Given the description of an element on the screen output the (x, y) to click on. 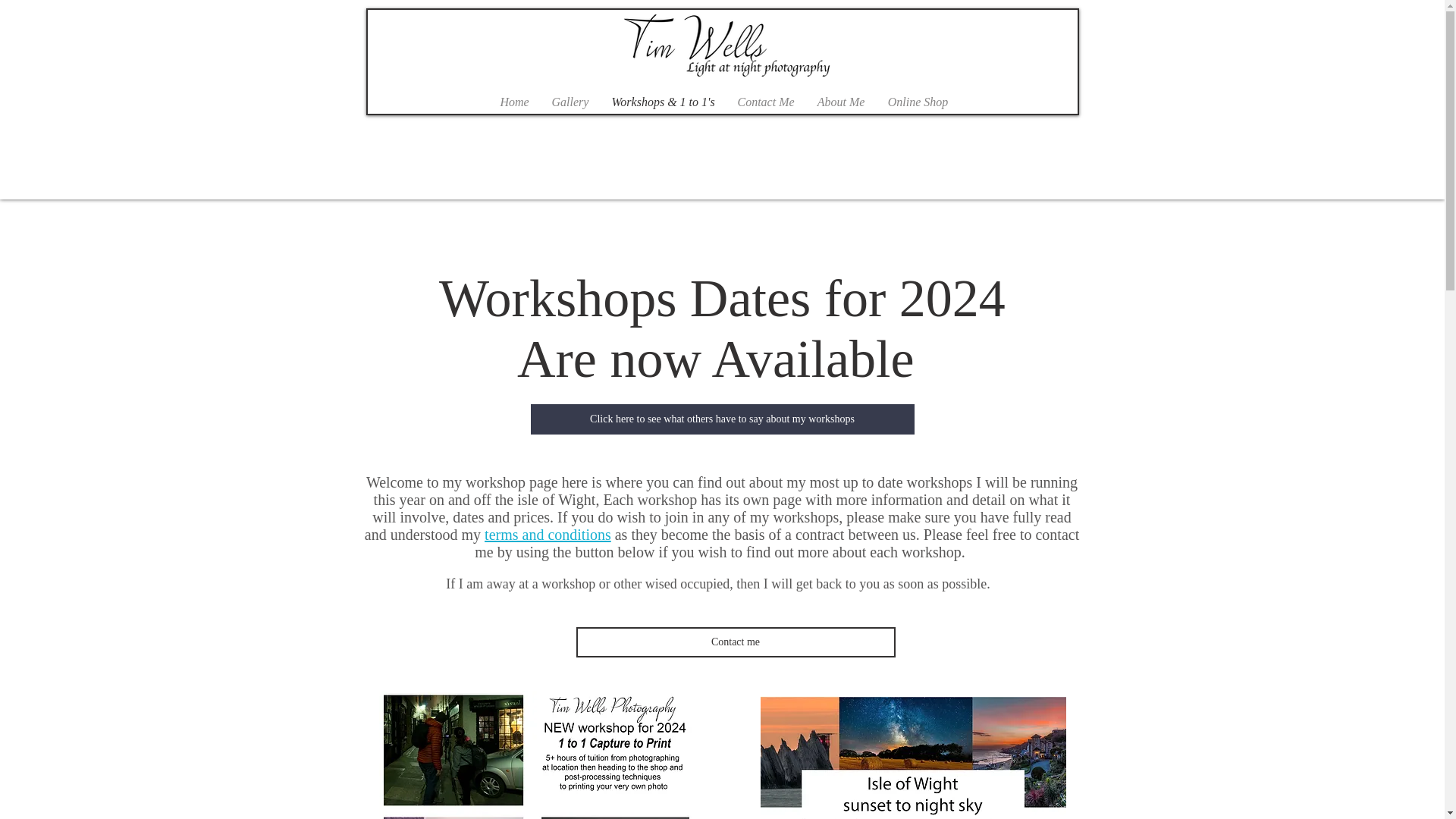
About Me (840, 102)
Gallery (569, 102)
Contact me (735, 642)
Home (513, 102)
Click here to see what others have to say about my workshops (722, 419)
Contact Me (766, 102)
Online Shop (917, 102)
terms and conditions (547, 534)
